Given the description of an element on the screen output the (x, y) to click on. 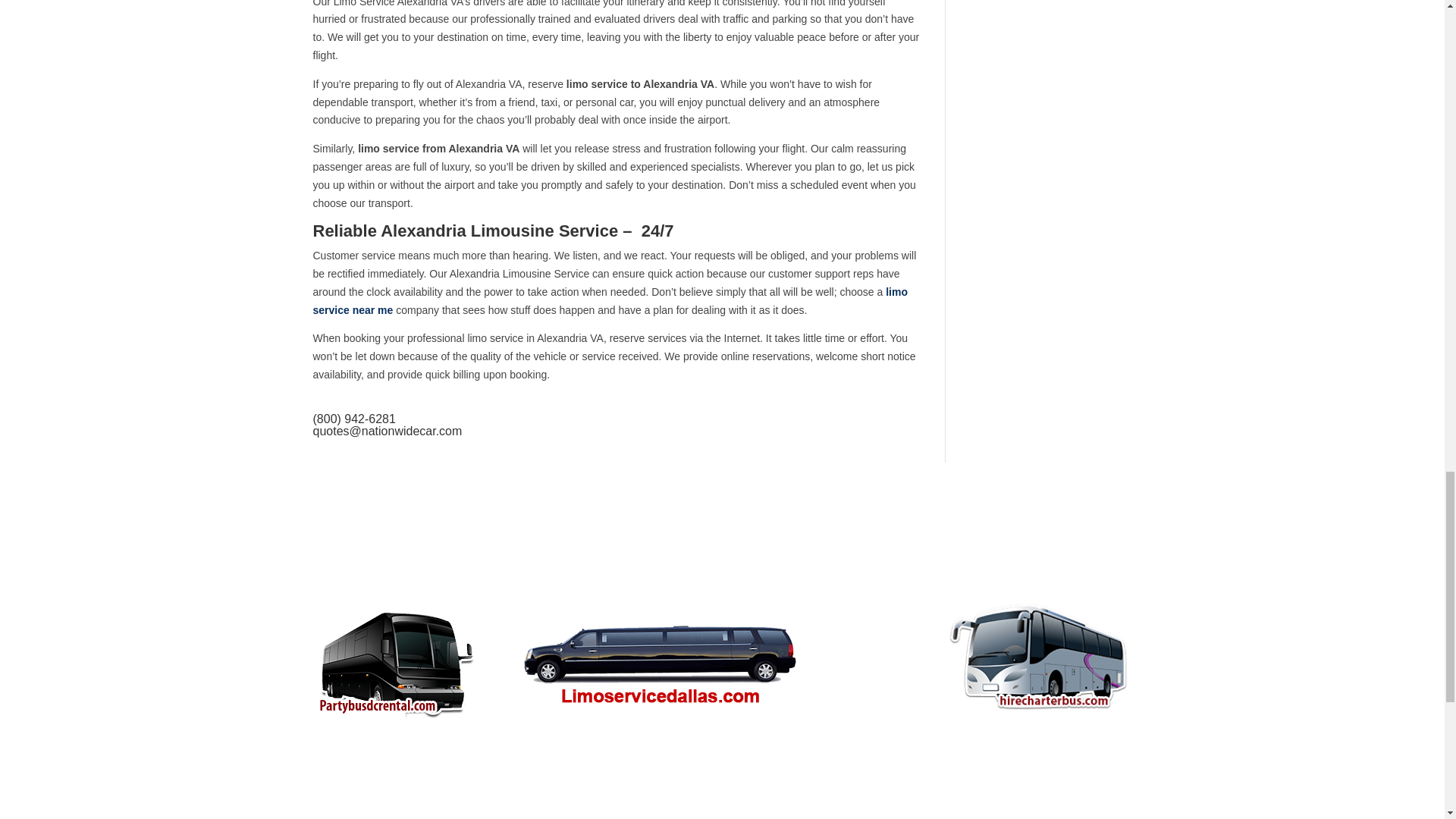
hirecharterbus-1 (1038, 657)
limoservicedallas.com (660, 654)
partybusdcrental (395, 659)
